Given the description of an element on the screen output the (x, y) to click on. 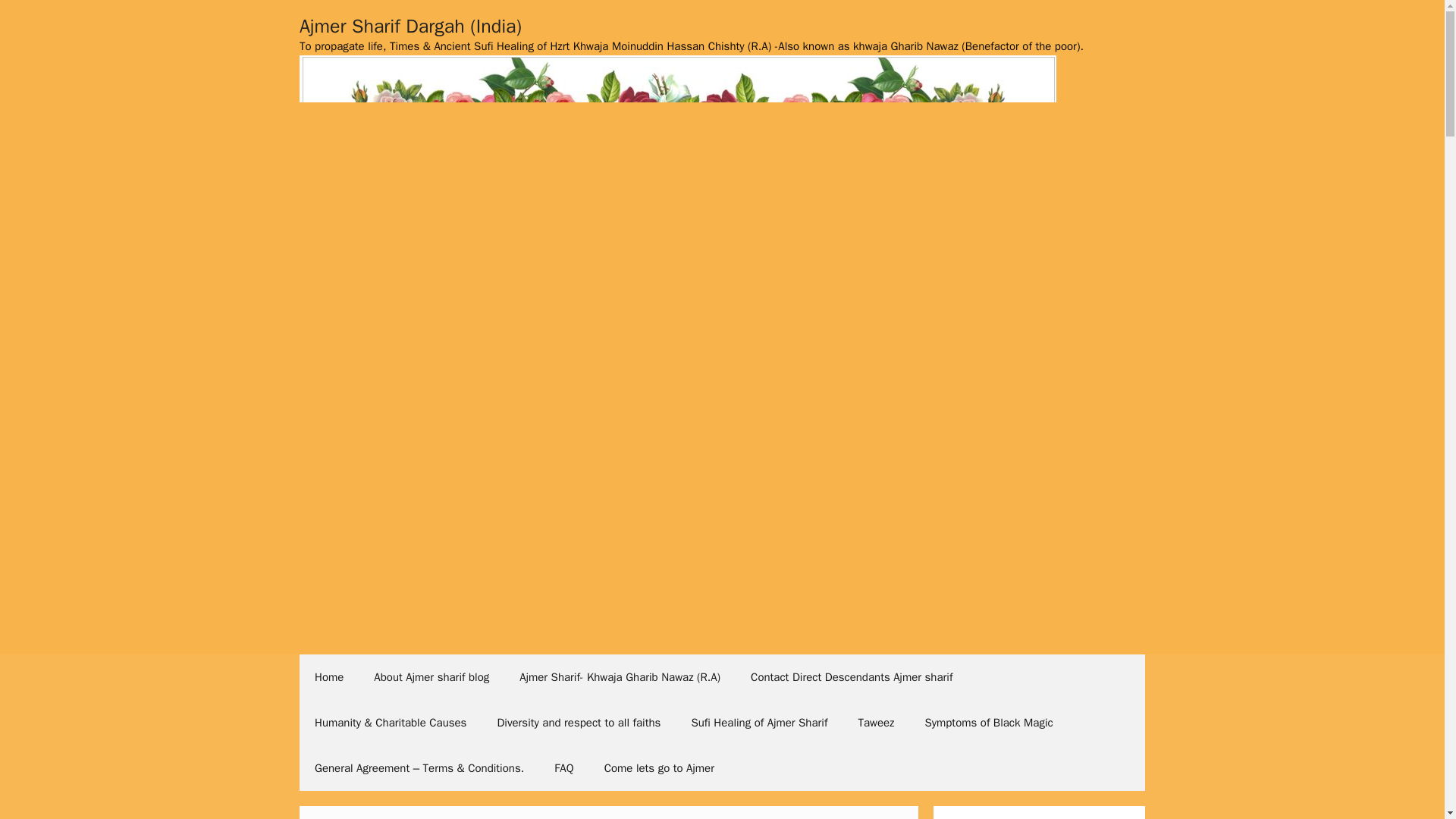
Diversity and respect to all faiths (578, 721)
Symptoms of Black Magic (987, 721)
Taweez (875, 721)
Search (35, 18)
About Ajmer sharif blog (430, 676)
Home (328, 676)
FAQ (563, 767)
Contact Direct Descendants Ajmer sharif (851, 676)
Sufi Healing of Ajmer Sharif (759, 721)
Come lets go to Ajmer (659, 767)
